Given the description of an element on the screen output the (x, y) to click on. 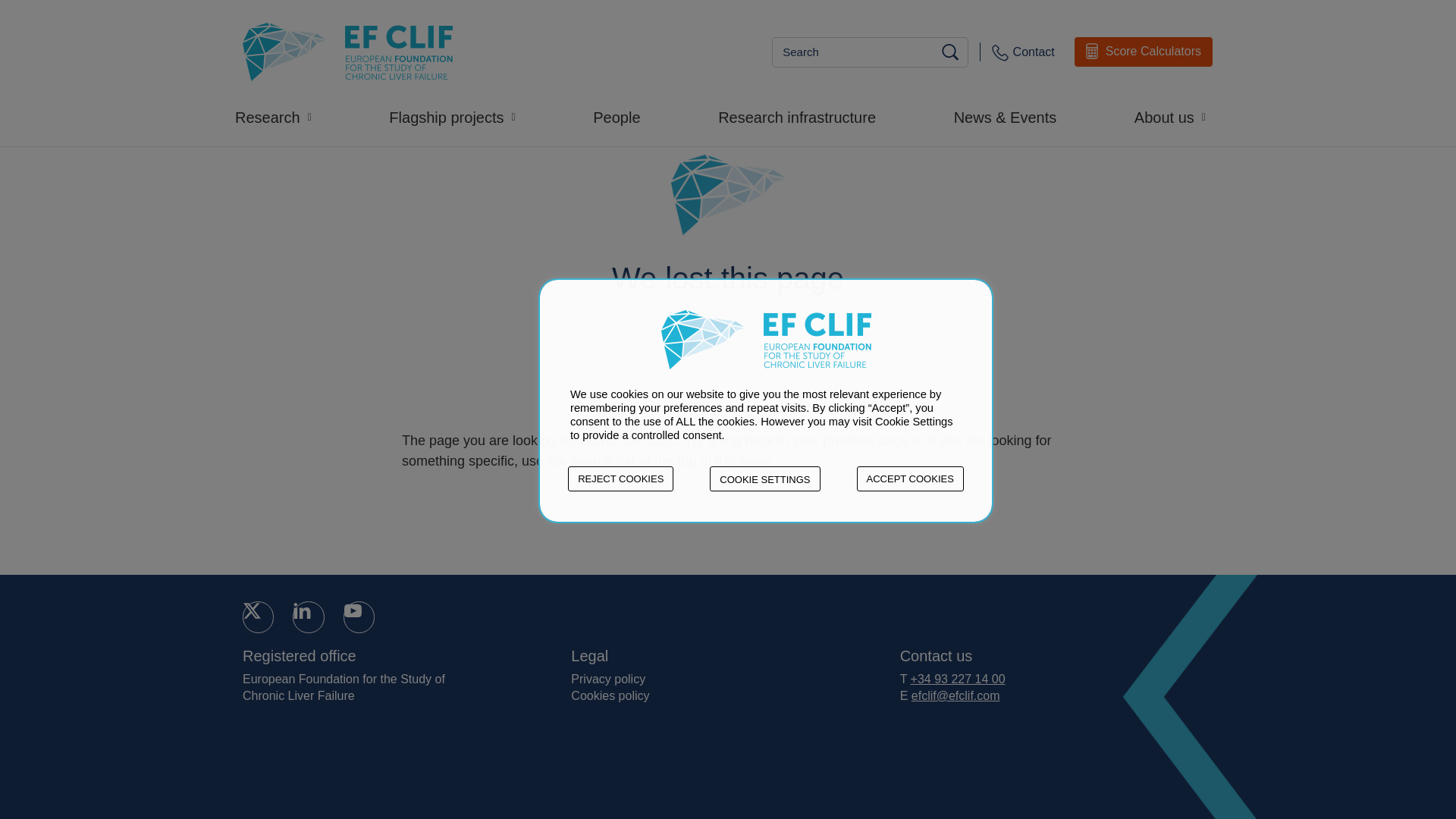
Research (280, 6)
People (623, 6)
Research infrastructure (804, 6)
Flagship projects (458, 6)
About us (1177, 6)
